Given the description of an element on the screen output the (x, y) to click on. 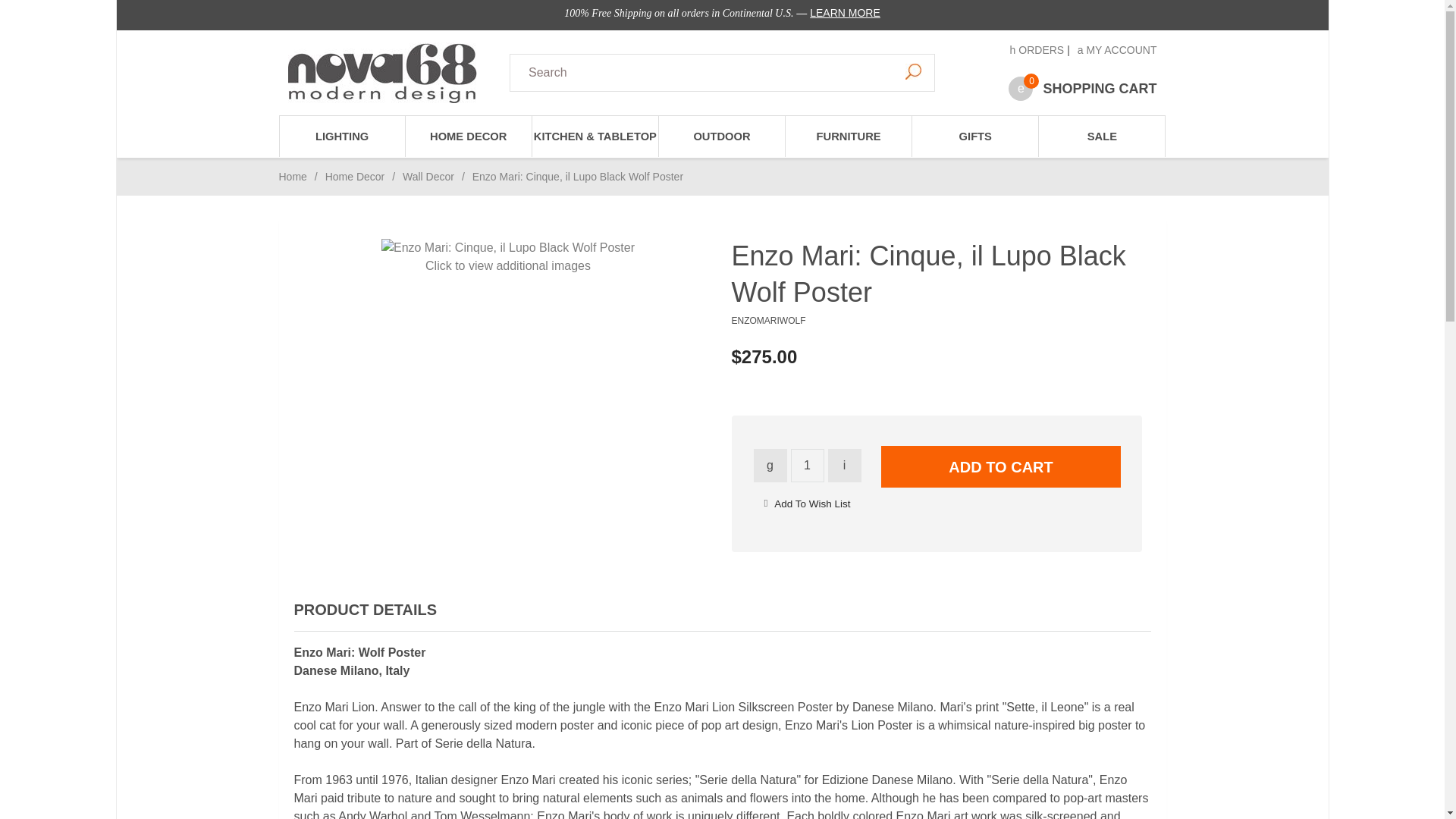
Wall Decor (428, 176)
1 (807, 465)
Home Decor (354, 176)
Enzo Mari: Cinque, il Lupo Black Wolf Poster (507, 248)
Add To Wish List (812, 503)
Welcome to Moda Suivant (382, 72)
NOVA68.com (389, 72)
Search (912, 70)
Home (293, 176)
Add to Cart (1000, 466)
